Given the description of an element on the screen output the (x, y) to click on. 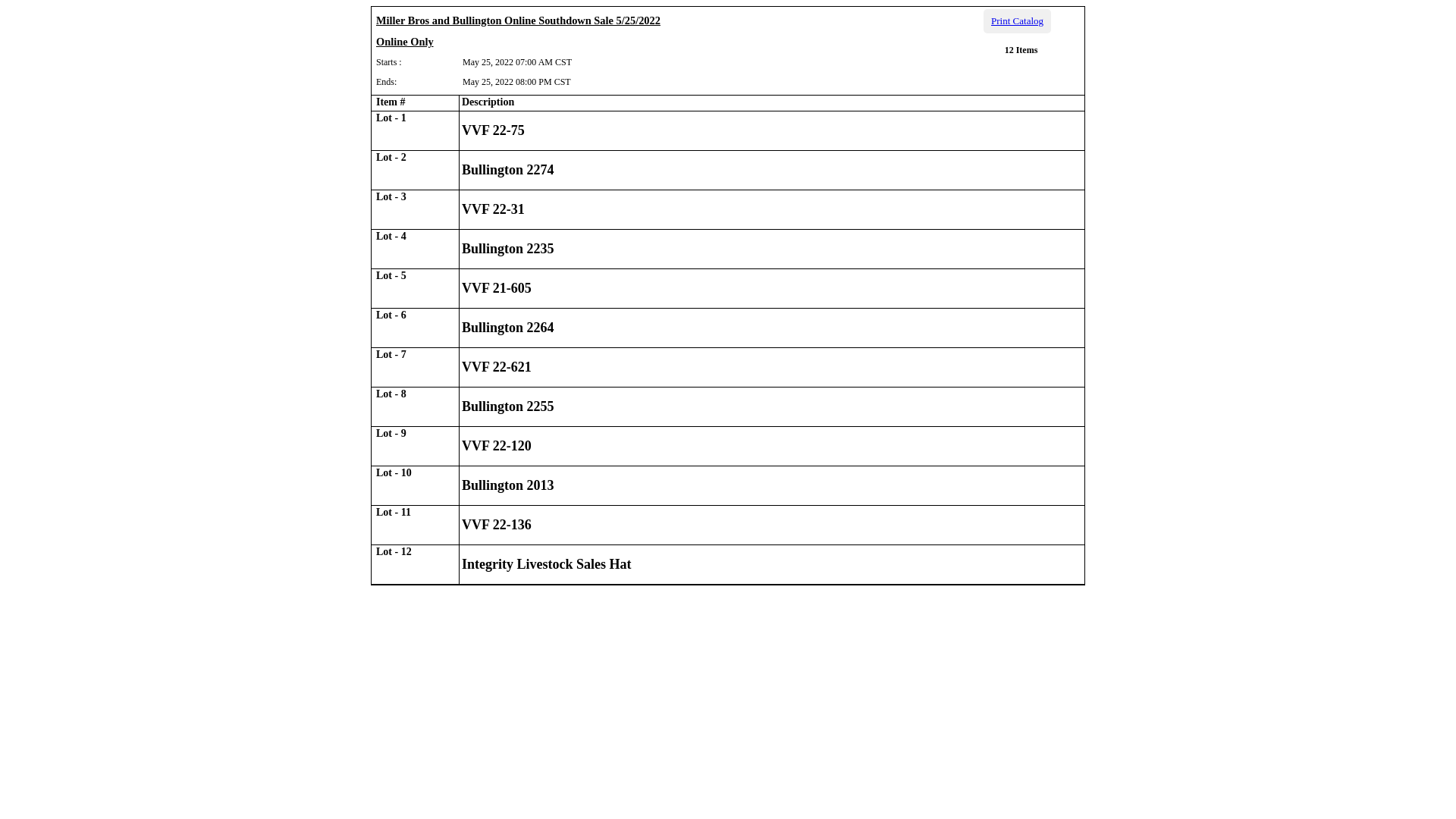
Print Catalog Element type: text (1017, 21)
